Given the description of an element on the screen output the (x, y) to click on. 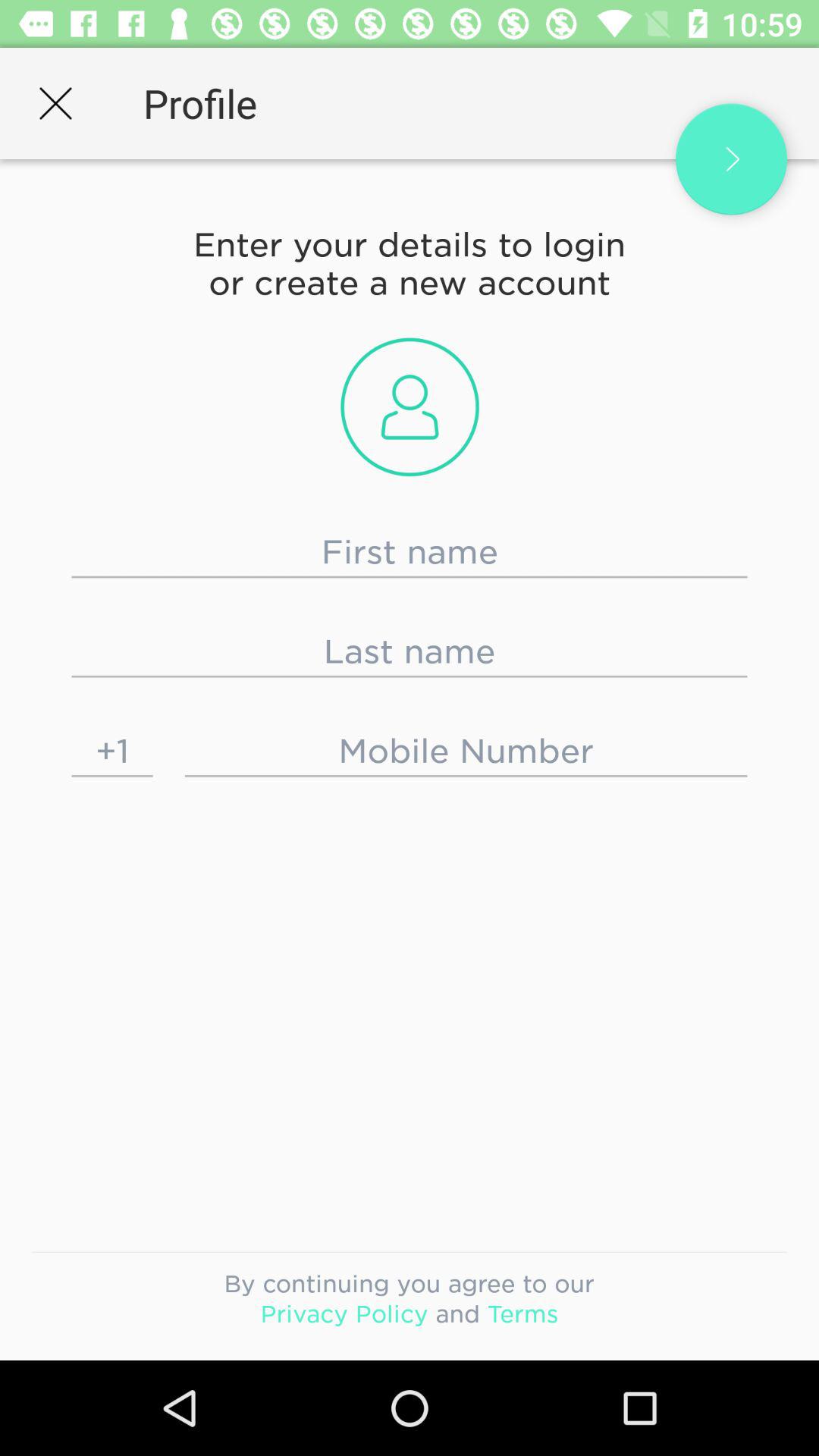
add mobile number (465, 750)
